Given the description of an element on the screen output the (x, y) to click on. 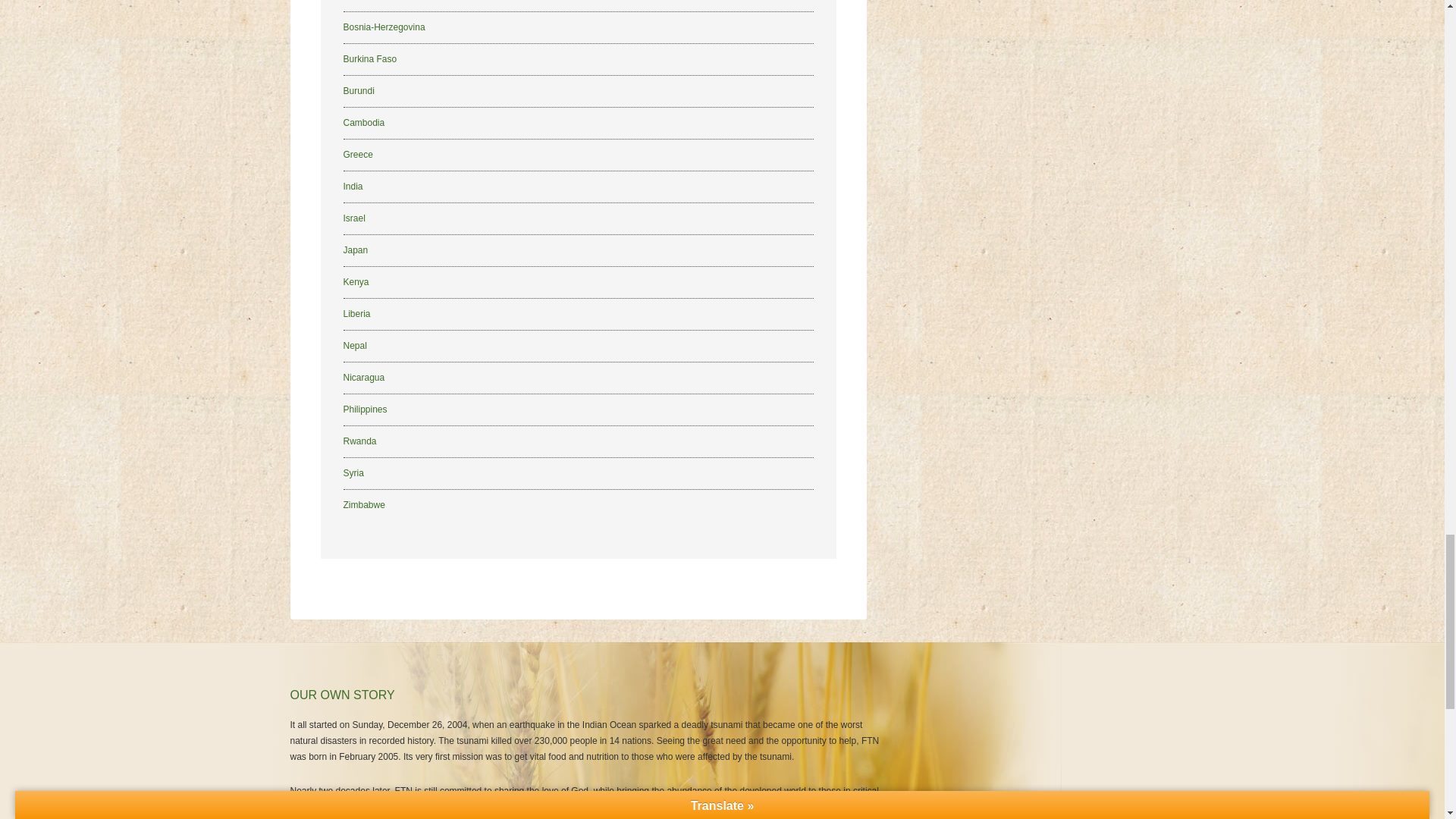
Burkina Faso (369, 59)
Bosnia-Herzegovina (383, 27)
